Given the description of an element on the screen output the (x, y) to click on. 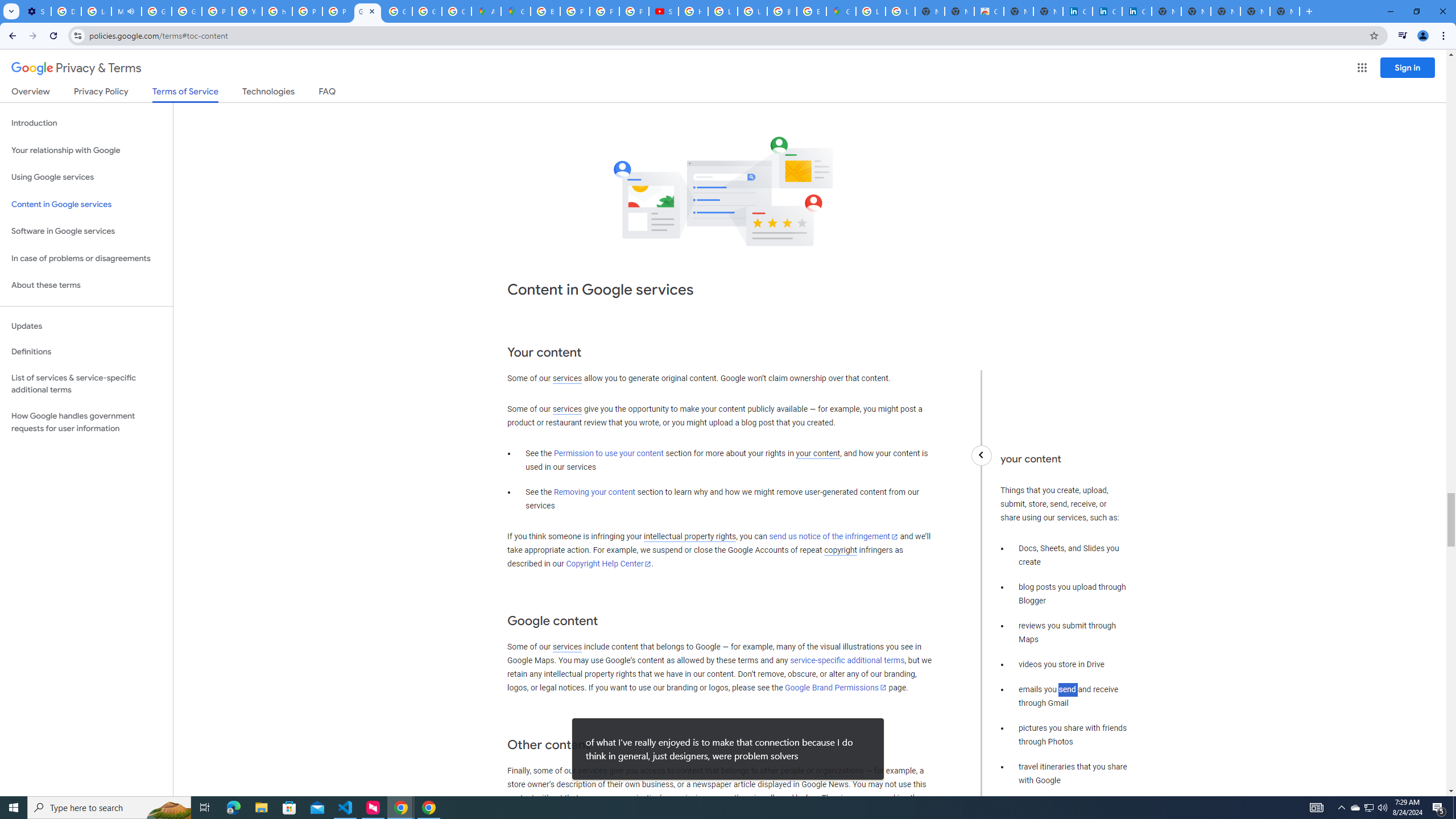
Using Google services (86, 176)
Google Maps (515, 11)
Copyright Help Center (609, 564)
Learn how to find your photos - Google Photos Help (95, 11)
Privacy Help Center - Policies Help (306, 11)
Copyright Policy (1136, 11)
